Given the description of an element on the screen output the (x, y) to click on. 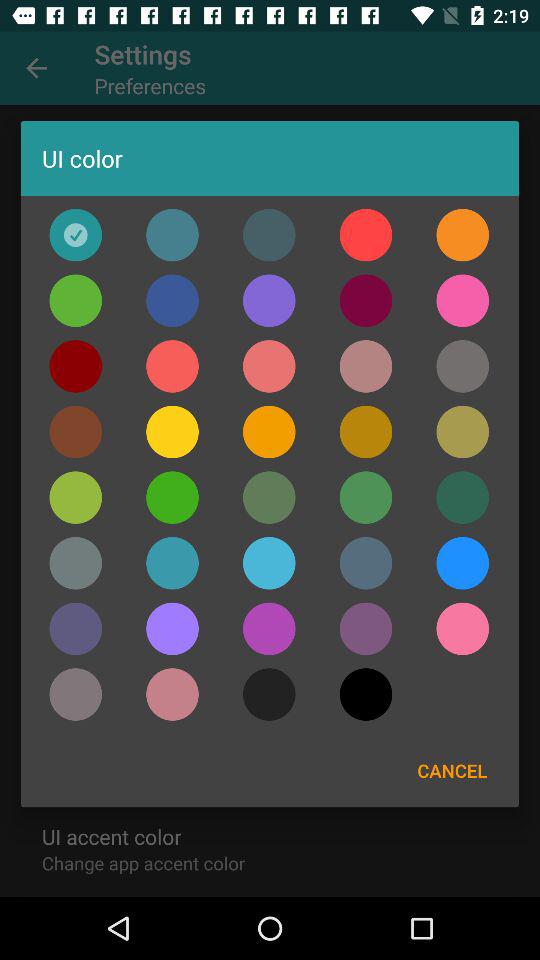
ui color (75, 234)
